Given the description of an element on the screen output the (x, y) to click on. 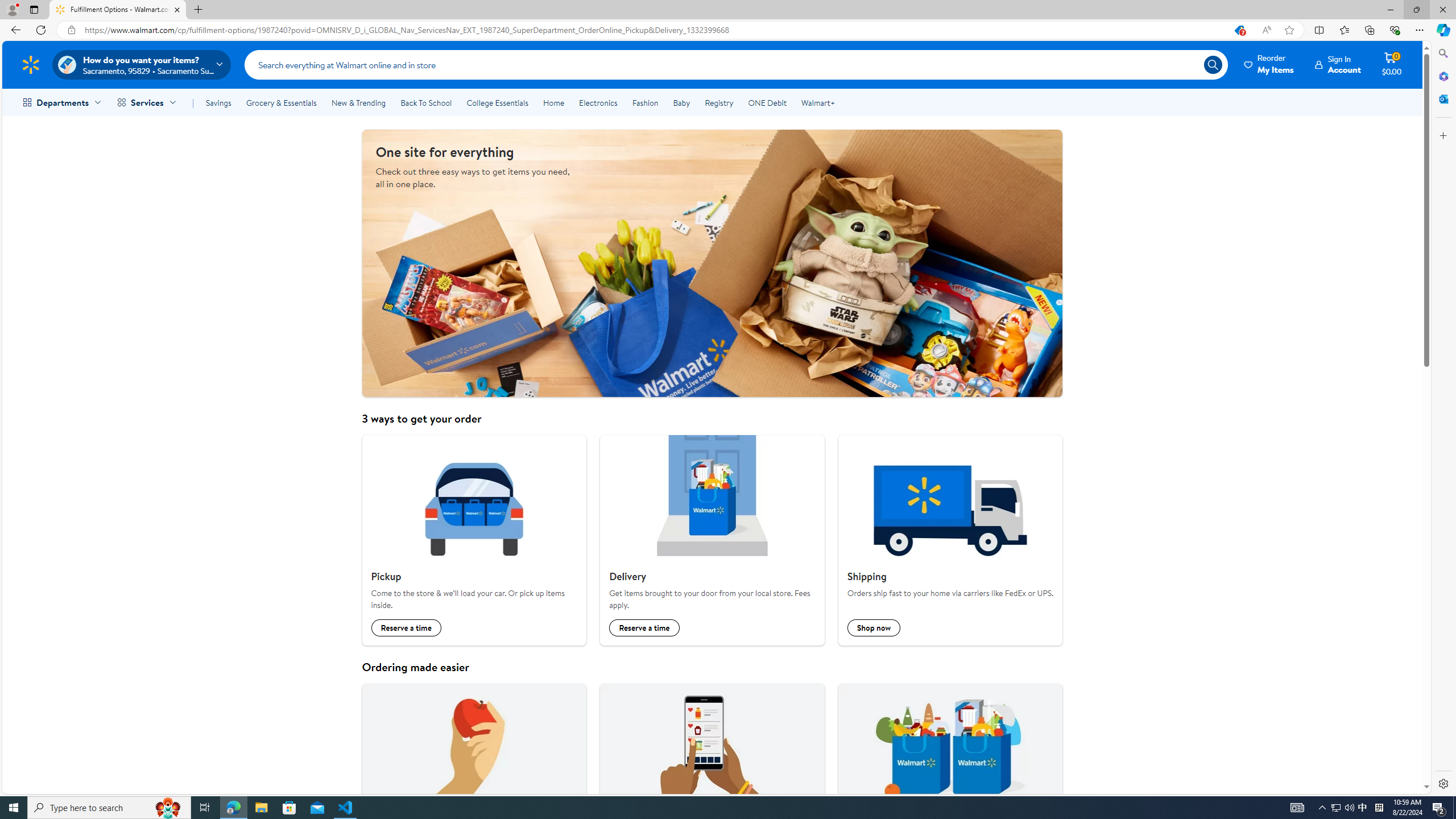
Search icon (1212, 64)
ONE Debit (767, 102)
New & Trending (358, 102)
ReorderMy Items (1269, 64)
